Given the description of an element on the screen output the (x, y) to click on. 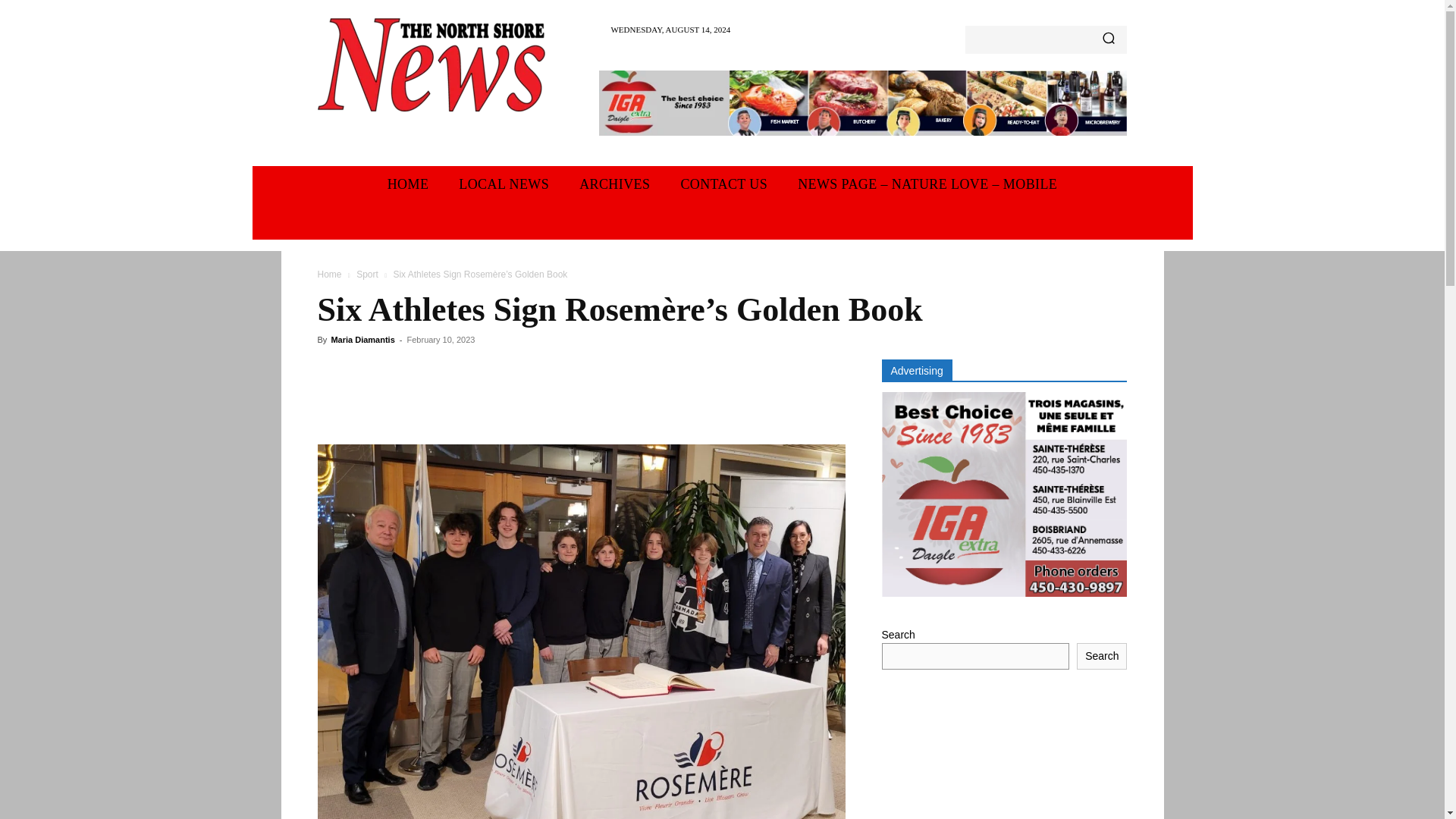
Logo of North Shore News (430, 64)
Logo of North Shore News (430, 64)
CONTACT US (724, 184)
LOCAL NEWS (504, 184)
View all posts in Sport (367, 274)
HOME (408, 184)
ARCHIVES (614, 184)
